Given the description of an element on the screen output the (x, y) to click on. 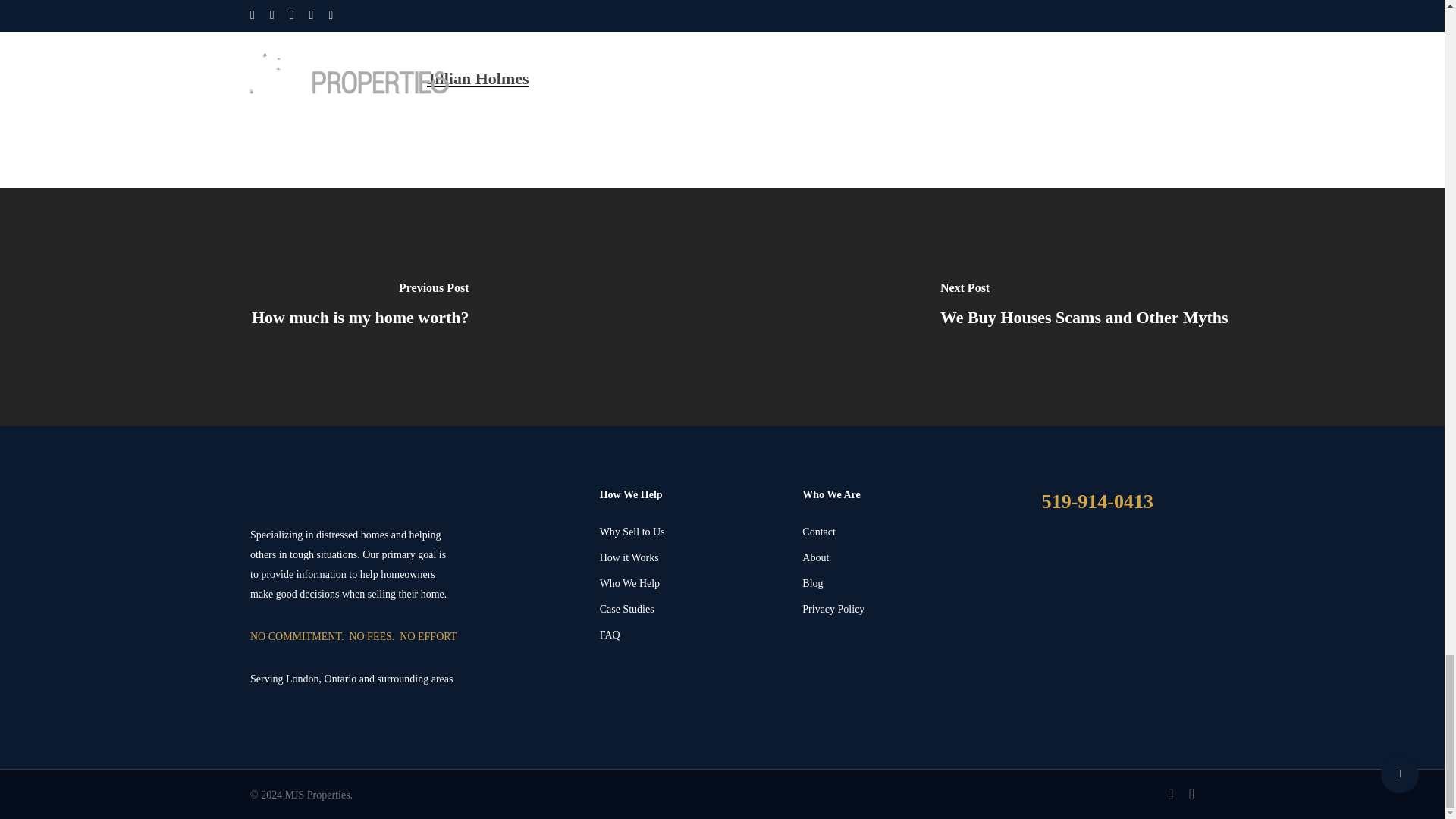
Who We Help (691, 583)
Contact (894, 532)
How it Works (691, 557)
Jillian Holmes (477, 77)
Why Sell to Us (691, 532)
About (894, 557)
Case Studies (691, 609)
FAQ (691, 635)
